Given the description of an element on the screen output the (x, y) to click on. 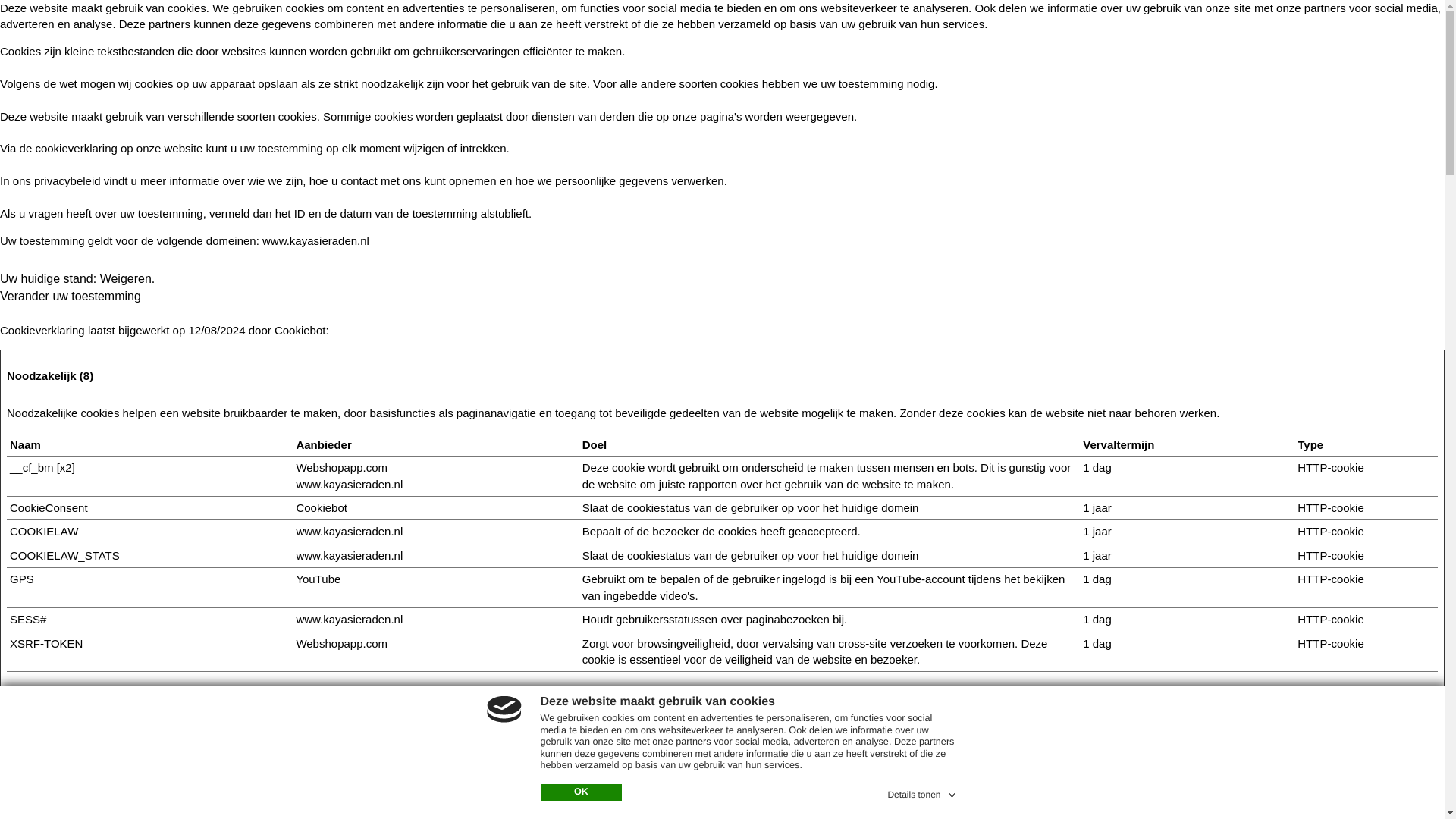
Privacybeleid van Webshopapp.com (341, 643)
Privacybeleid van Webshopapp.com (341, 467)
Cookiebot (300, 329)
YouTube (317, 578)
Webshopapp.com (341, 467)
Cookiebot (321, 507)
Webshopapp.com (341, 643)
Verander uw toestemming (70, 295)
Cookiebot (300, 329)
Privacybeleid van YouTube (317, 578)
